Given the description of an element on the screen output the (x, y) to click on. 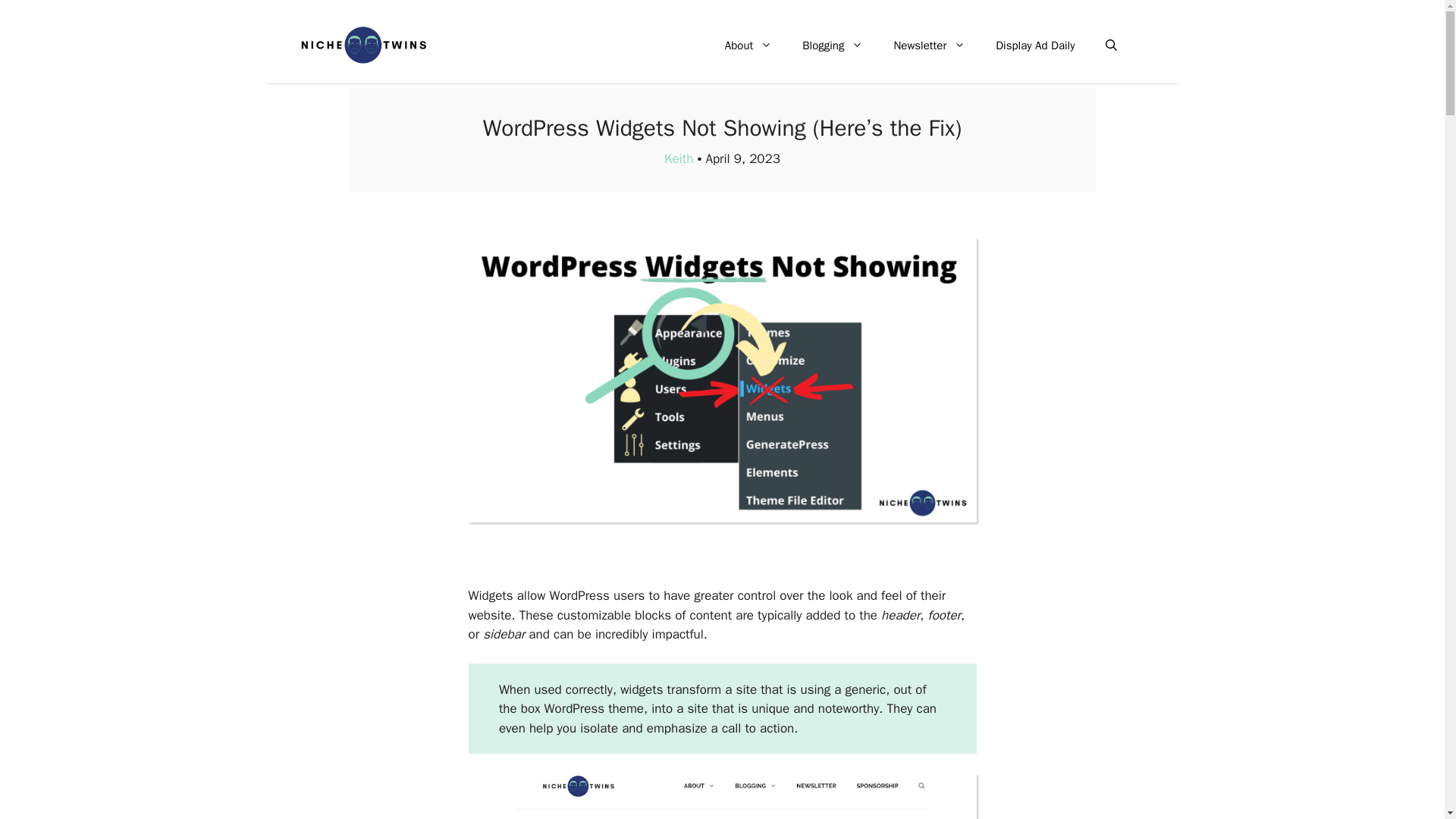
Display Ad Daily (1034, 44)
About (748, 44)
Newsletter (928, 44)
Blogging (832, 44)
Keith (678, 158)
